Given the description of an element on the screen output the (x, y) to click on. 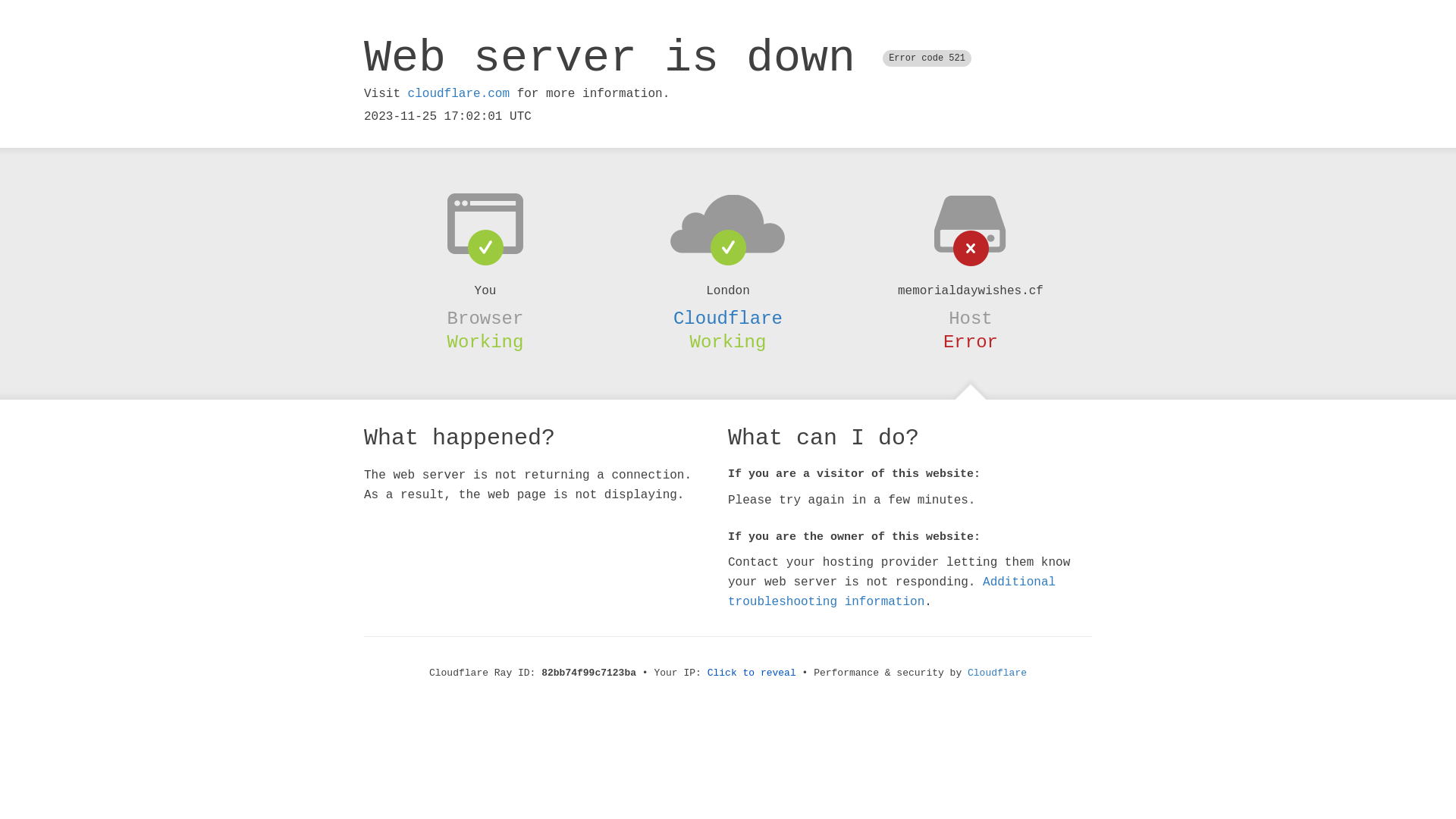
Click to reveal Element type: text (751, 672)
Cloudflare Element type: text (727, 318)
Cloudflare Element type: text (996, 672)
Additional troubleshooting information Element type: text (891, 591)
cloudflare.com Element type: text (458, 93)
